Given the description of an element on the screen output the (x, y) to click on. 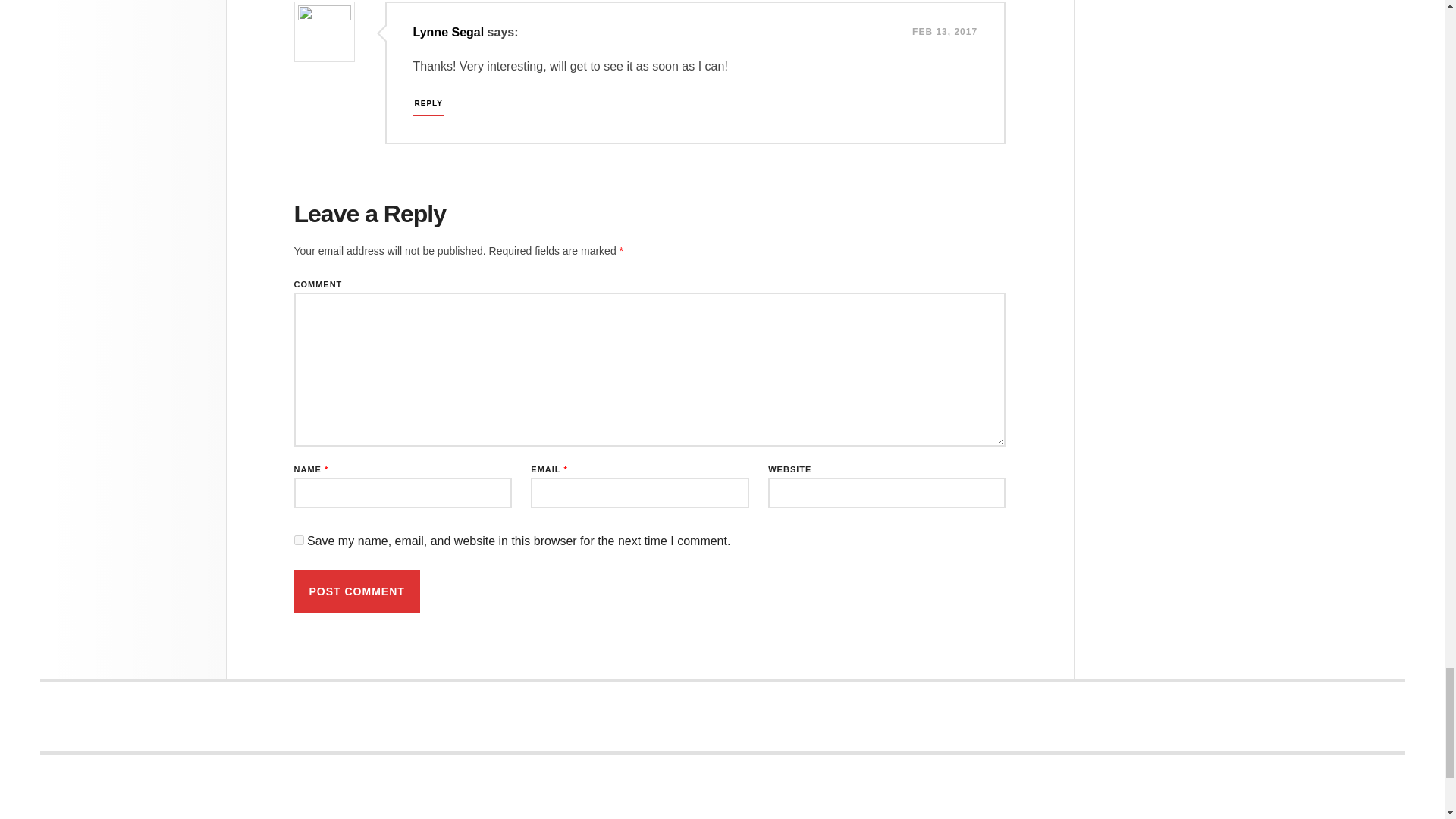
Post Comment (357, 591)
yes (299, 540)
